Given the description of an element on the screen output the (x, y) to click on. 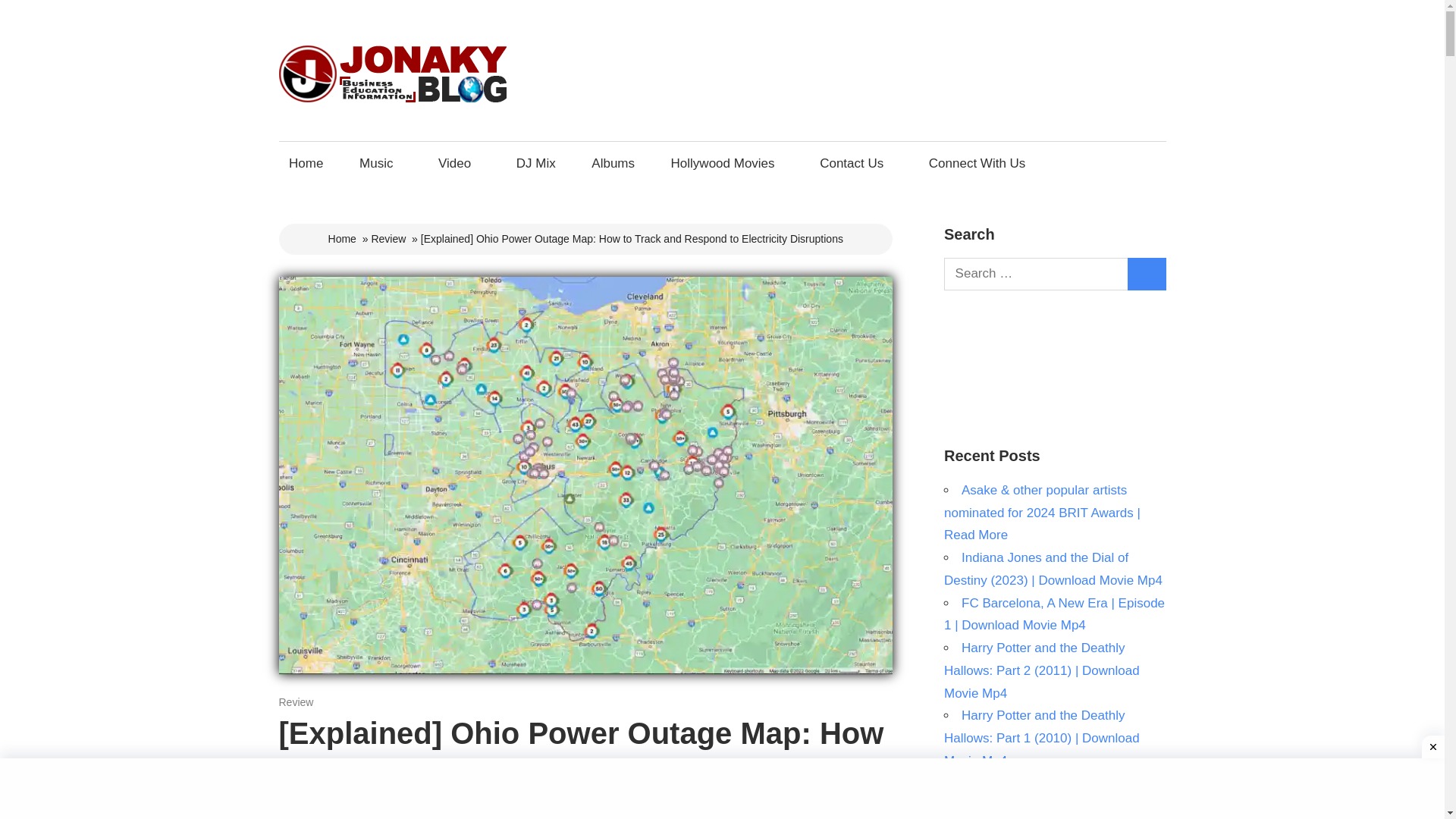
Connect With Us (981, 162)
Contact Us (855, 162)
Hollywood Movies (727, 162)
DJ Mix (535, 162)
Home (342, 238)
Search for: (1035, 273)
Go to Home. (342, 238)
6:40 pm (310, 702)
Go to the Review category archives. (388, 238)
Music (380, 162)
Home (306, 162)
Review (388, 238)
Review (296, 702)
Albums (612, 162)
Video (458, 162)
